Given the description of an element on the screen output the (x, y) to click on. 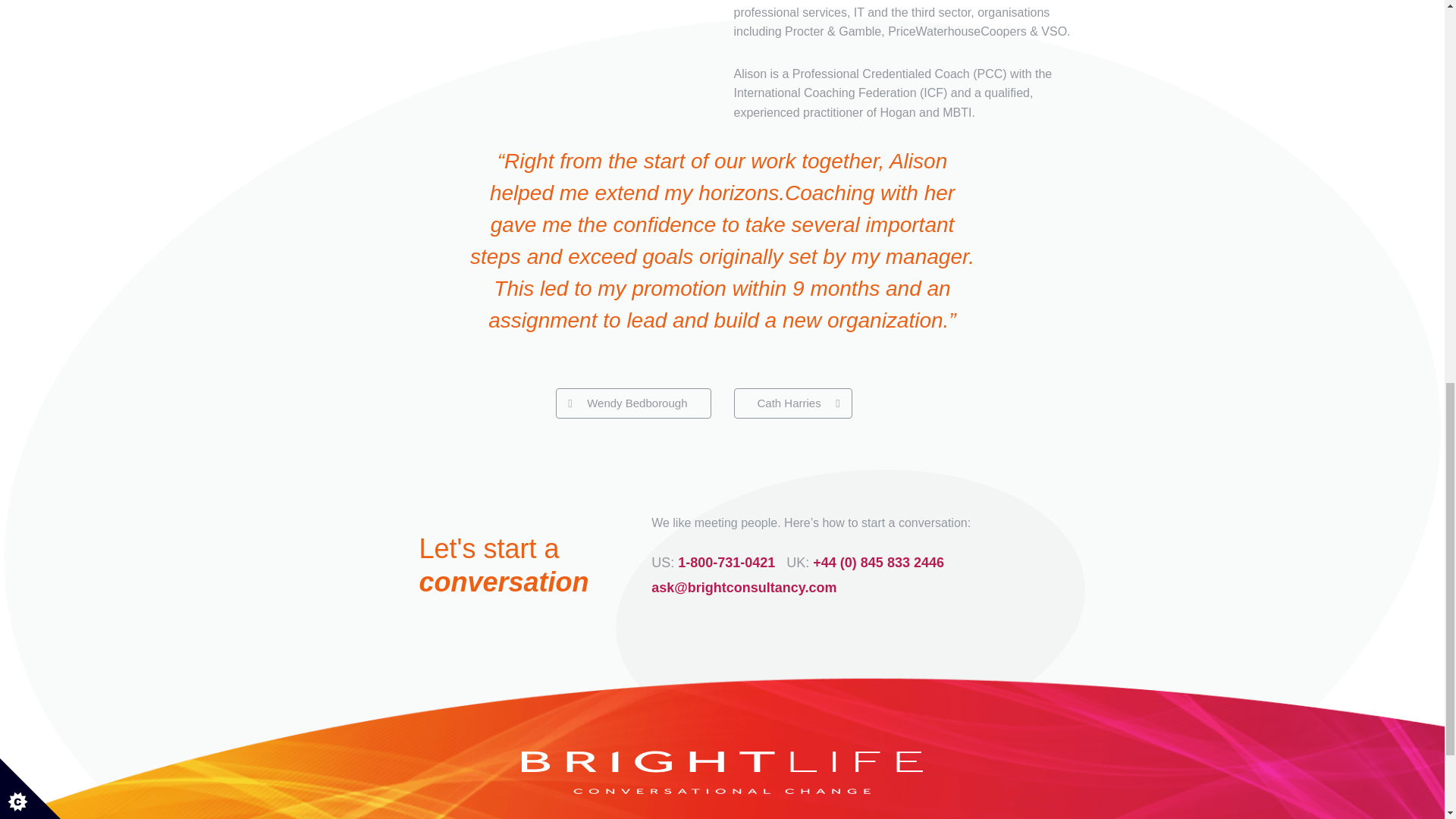
Wendy Bedborough (633, 394)
1-800-731-0421 (726, 553)
Cath Harries (792, 394)
